Given the description of an element on the screen output the (x, y) to click on. 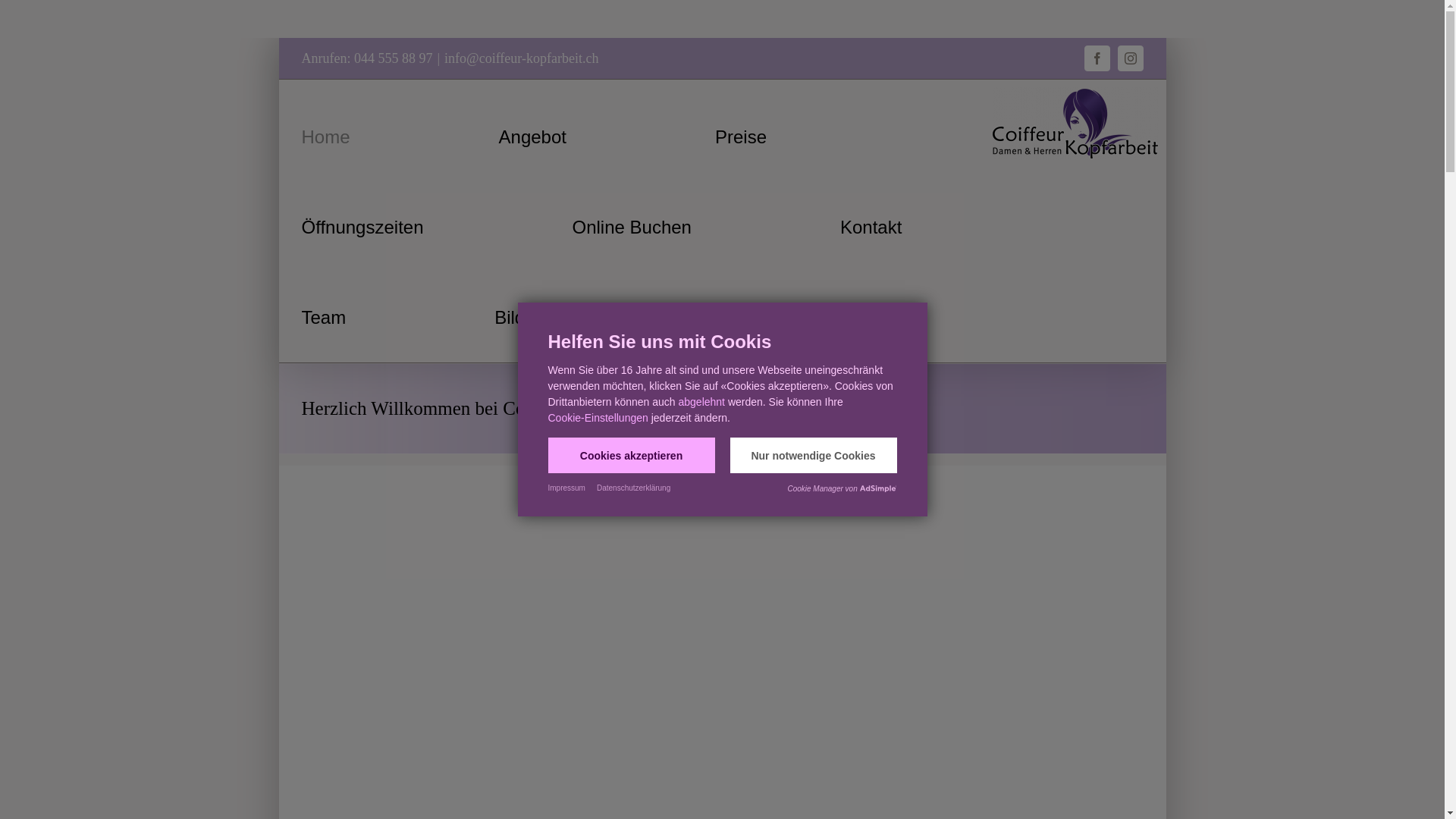
Kontakt Element type: text (870, 227)
Angebot Element type: text (532, 136)
Impressum Element type: text (565, 487)
Bilder Element type: text (517, 317)
info@coiffeur-kopfarbeit.ch Element type: text (521, 57)
Cookie-Einstellungen Element type: text (597, 417)
abgelehnt Element type: text (700, 401)
Nur notwendige Cookies Element type: text (812, 455)
Facebook Element type: text (1097, 58)
Cookies akzeptieren Element type: text (630, 455)
Online Buchen Element type: text (631, 227)
Team Element type: text (323, 317)
Preise Element type: text (740, 136)
044 555 88 97 Element type: text (393, 57)
Instagram Element type: text (1130, 58)
Home Element type: text (325, 136)
